Given the description of an element on the screen output the (x, y) to click on. 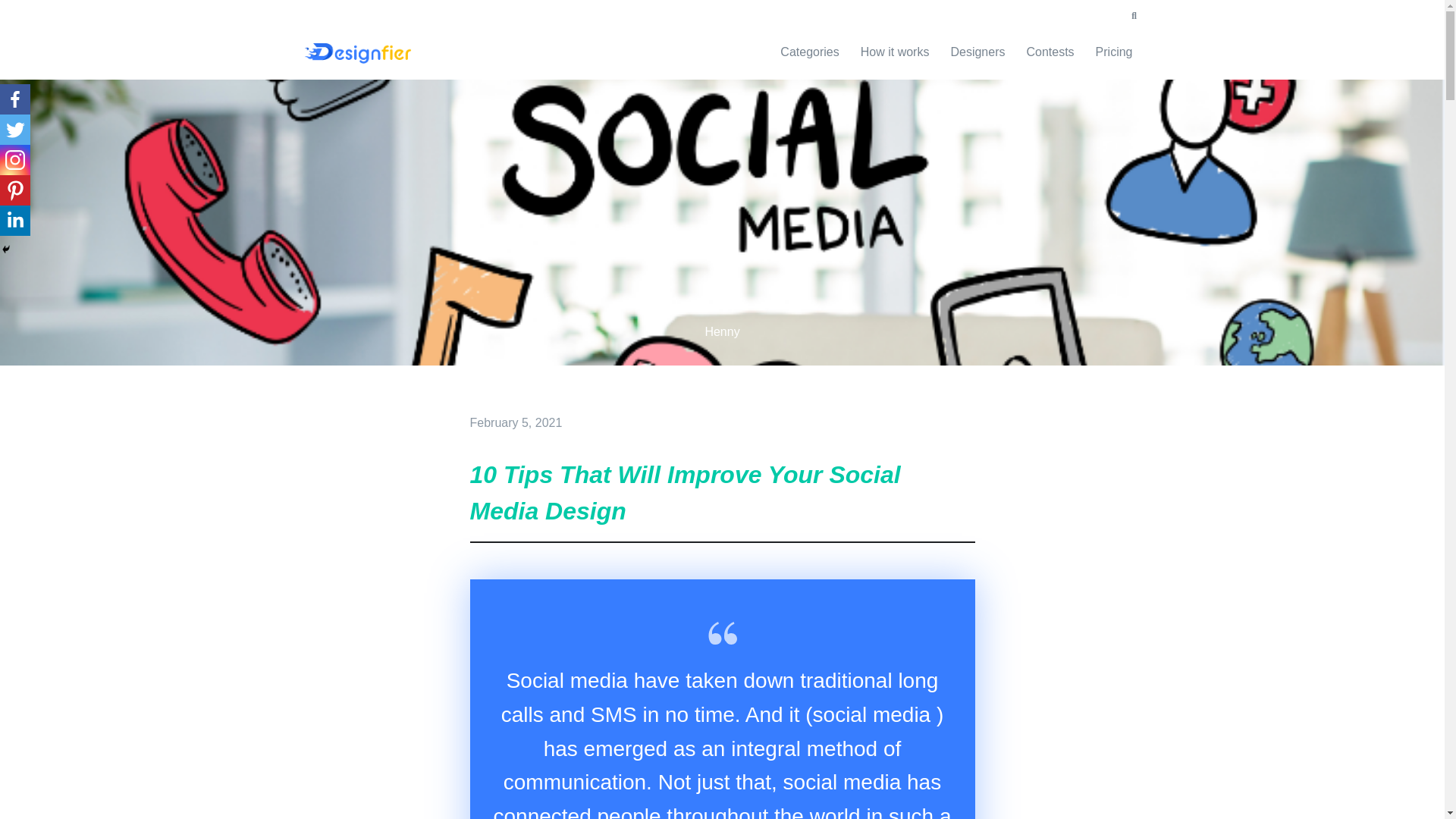
Hide (5, 249)
Facebook (15, 99)
Henny (721, 331)
Linkedin (15, 220)
February 5, 2021 (516, 422)
Pricing (1113, 52)
Pinterest (15, 190)
How it works (895, 52)
Contests (1049, 52)
Instagram (15, 159)
